Given the description of an element on the screen output the (x, y) to click on. 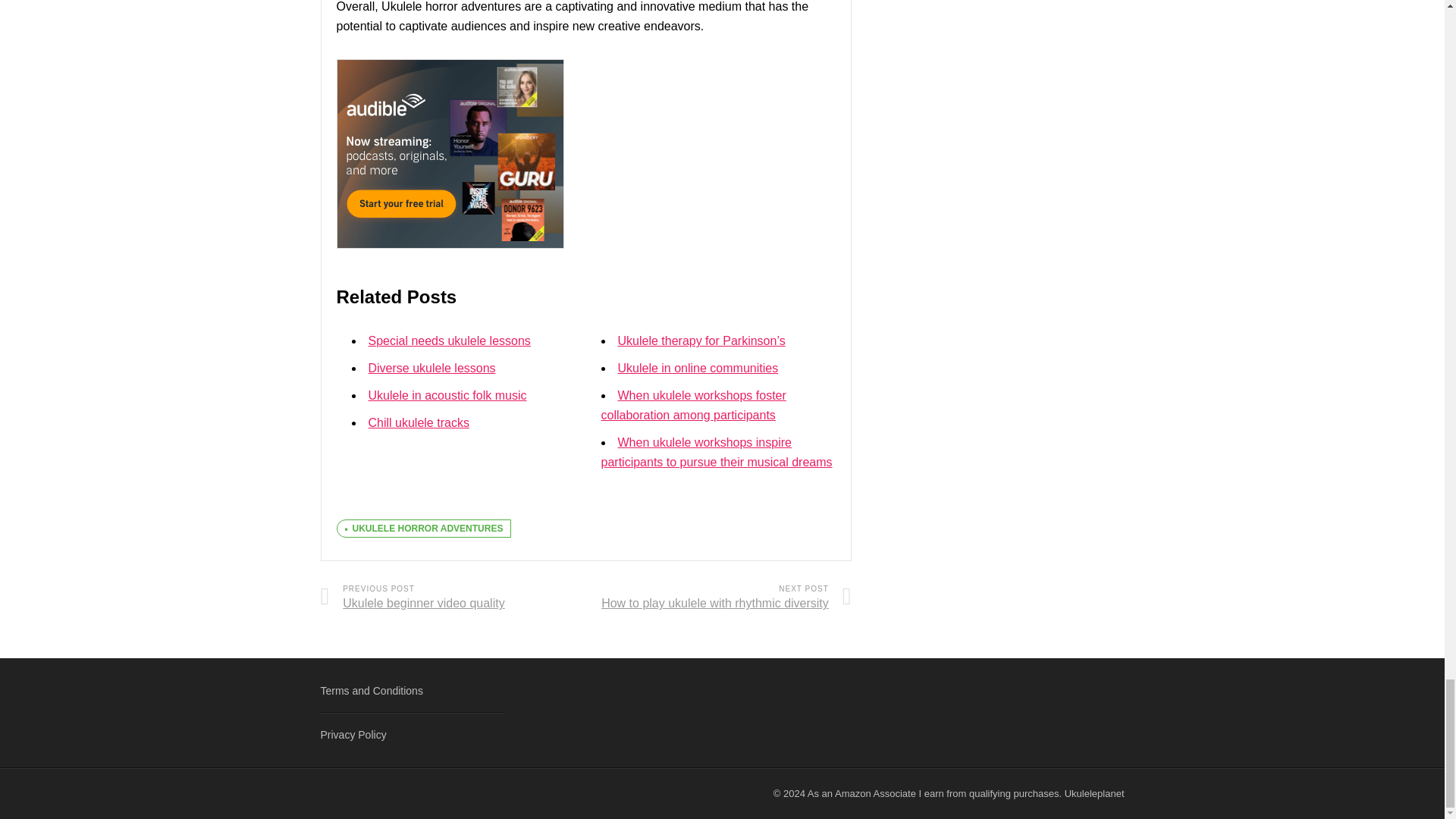
Chill ukulele tracks (418, 422)
Ukulele in online communities (697, 367)
Diverse ukulele lessons (432, 367)
Special needs ukulele lessons (449, 340)
Ukulele in acoustic folk music (447, 395)
